Given the description of an element on the screen output the (x, y) to click on. 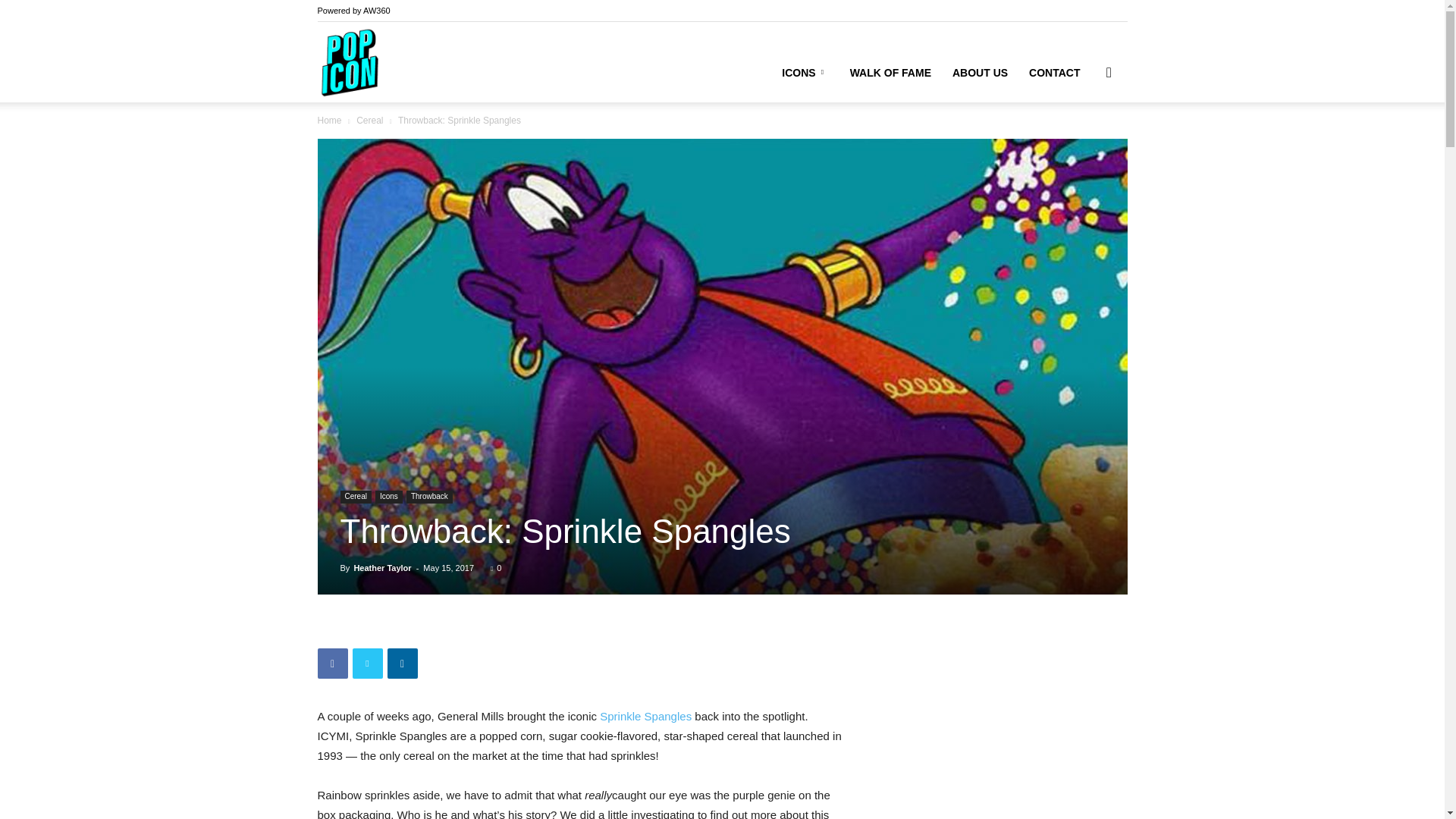
CONTACT (1053, 72)
PopIcon.life (348, 61)
Cereal (369, 120)
Powered by AW360 (353, 10)
0 (495, 567)
Icons (389, 496)
View all posts in Cereal (369, 120)
ABOUT US (979, 72)
Cereal (355, 496)
Throwback (429, 496)
Home (328, 120)
Heather Taylor (381, 567)
Search (1085, 144)
ICONS (804, 72)
